Given the description of an element on the screen output the (x, y) to click on. 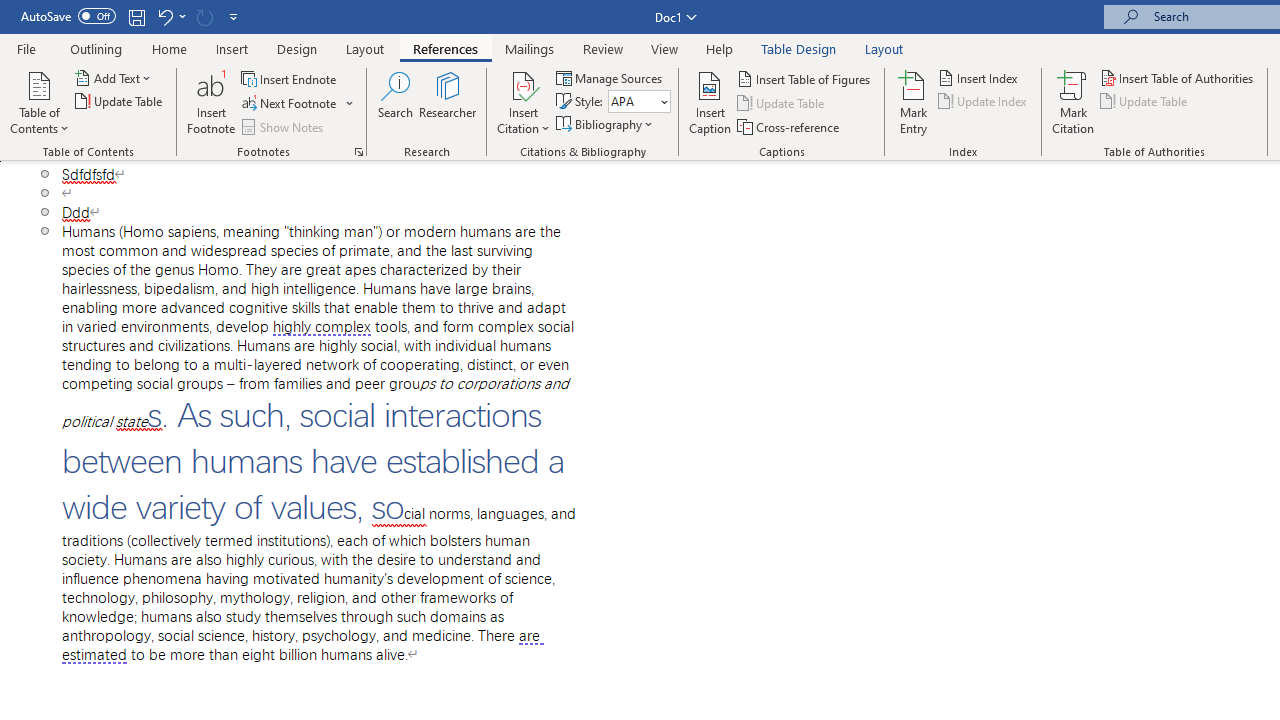
Undo Outline Move Up (170, 15)
Mark Citation... (1072, 102)
Cross-reference... (789, 126)
Outlining (95, 48)
Footnote and Endnote Dialog... (358, 151)
Add Text (114, 78)
Manage Sources... (610, 78)
Next Footnote (290, 103)
